Given the description of an element on the screen output the (x, y) to click on. 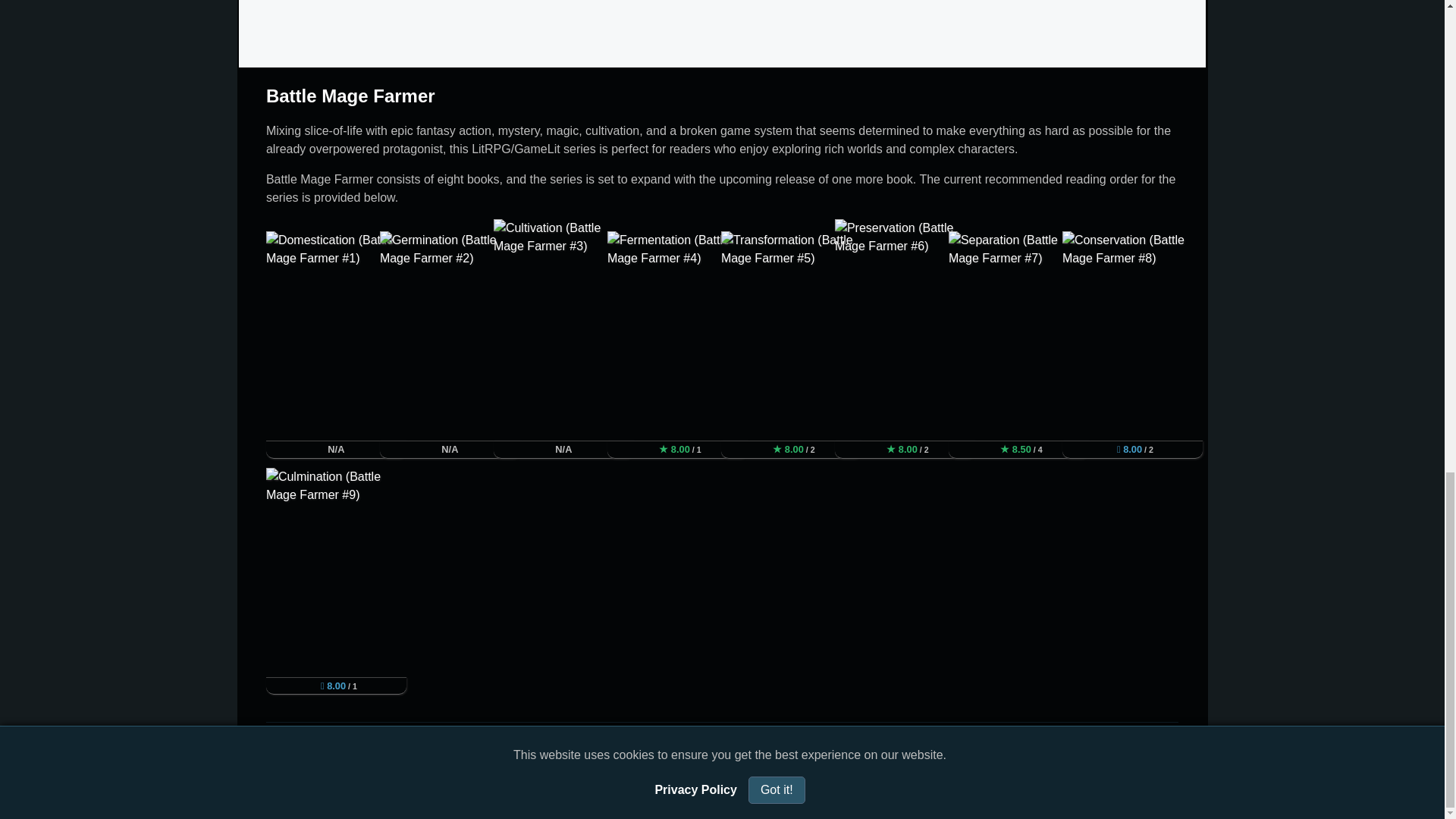
Battle Mage Farmer (350, 95)
